Given the description of an element on the screen output the (x, y) to click on. 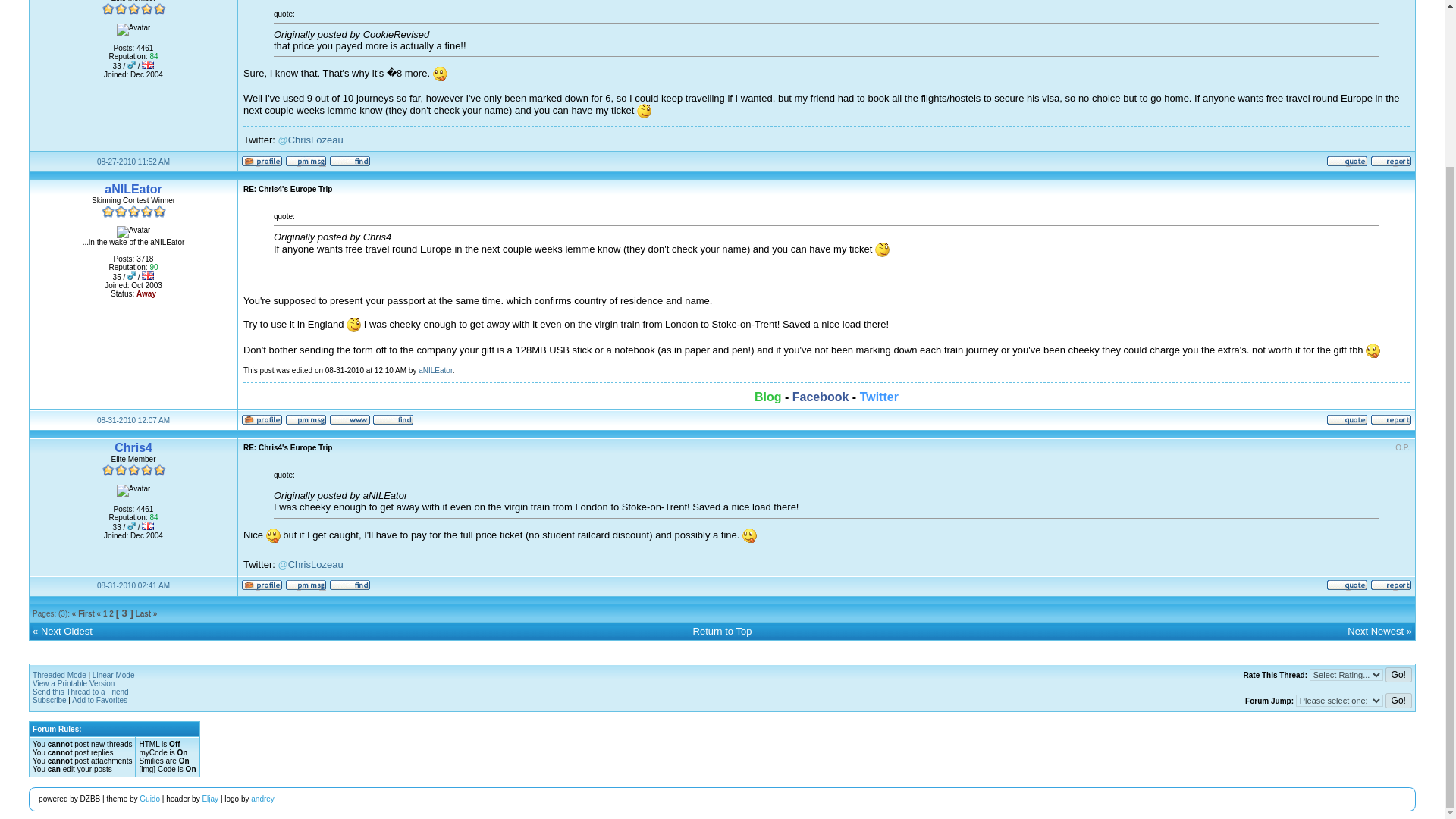
Poster's local time: 11:52 AM (133, 162)
United Kingdom (147, 525)
Away (145, 293)
Poster's local time: 02:41 AM (133, 585)
aNILEator (132, 188)
Report this post to the forum Moderators (1391, 163)
Twitter (879, 396)
90 (153, 266)
Go! (1399, 674)
Go! (1399, 700)
United Kingdom (147, 275)
84 (153, 56)
Facebook (820, 396)
ChrisLozeau (315, 139)
Report this post to the forum Moderators (1391, 422)
